Given the description of an element on the screen output the (x, y) to click on. 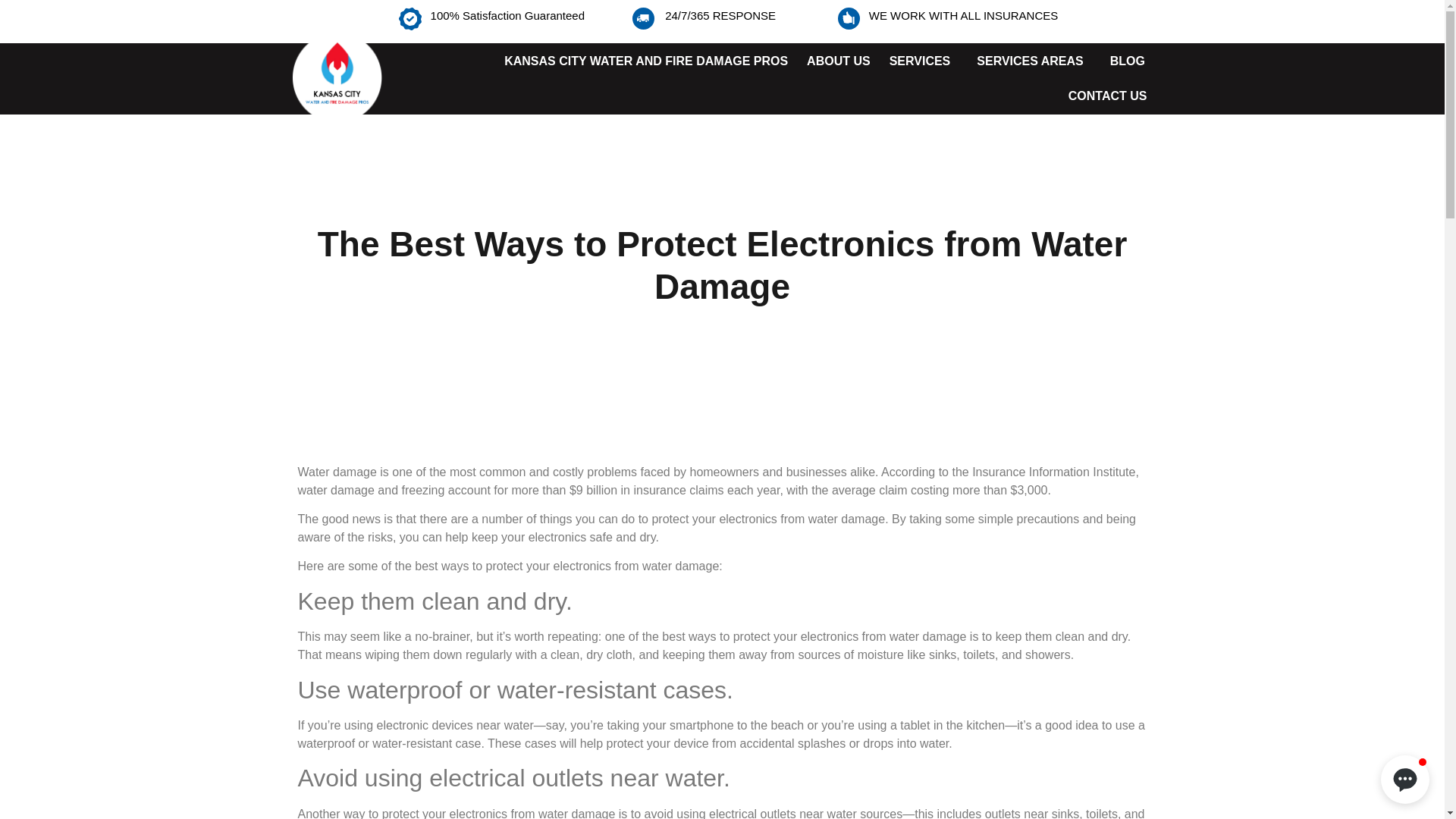
SERVICES (924, 61)
BLOG (1127, 61)
ABOUT US (838, 61)
CONTACT US (1107, 95)
KANSAS CITY WATER AND FIRE DAMAGE PROS (645, 61)
SERVICES AREAS (1033, 61)
